Given the description of an element on the screen output the (x, y) to click on. 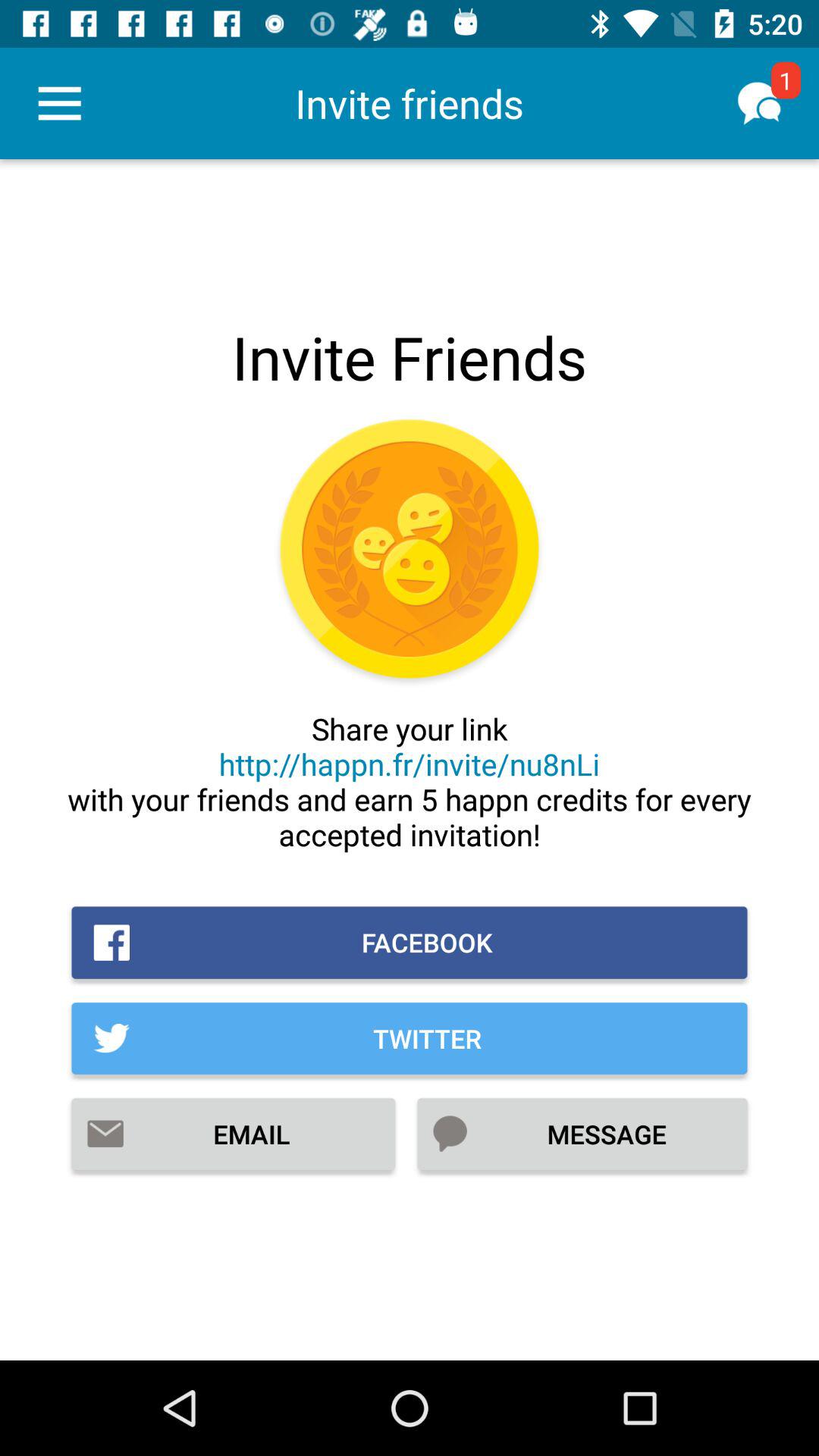
turn off the item below share your link icon (409, 942)
